Given the description of an element on the screen output the (x, y) to click on. 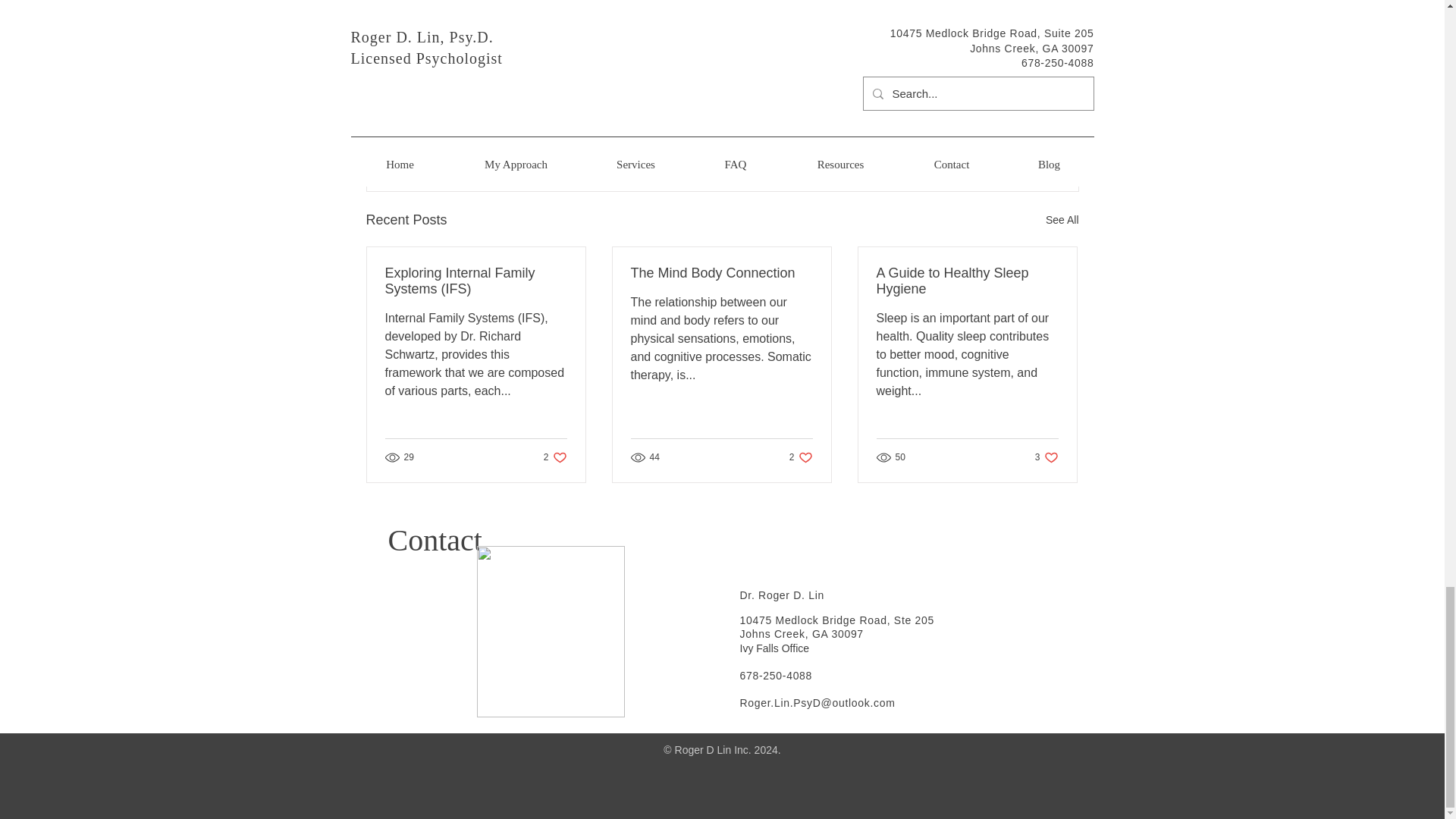
The Mind Body Connection (721, 273)
10475 Medlock Bridge Road, Ste 205 (800, 457)
A Guide to Healthy Sleep Hygiene (836, 620)
See All (967, 281)
Johns Creek, GA 30097 (1061, 219)
678-250-4088 (990, 137)
